Given the description of an element on the screen output the (x, y) to click on. 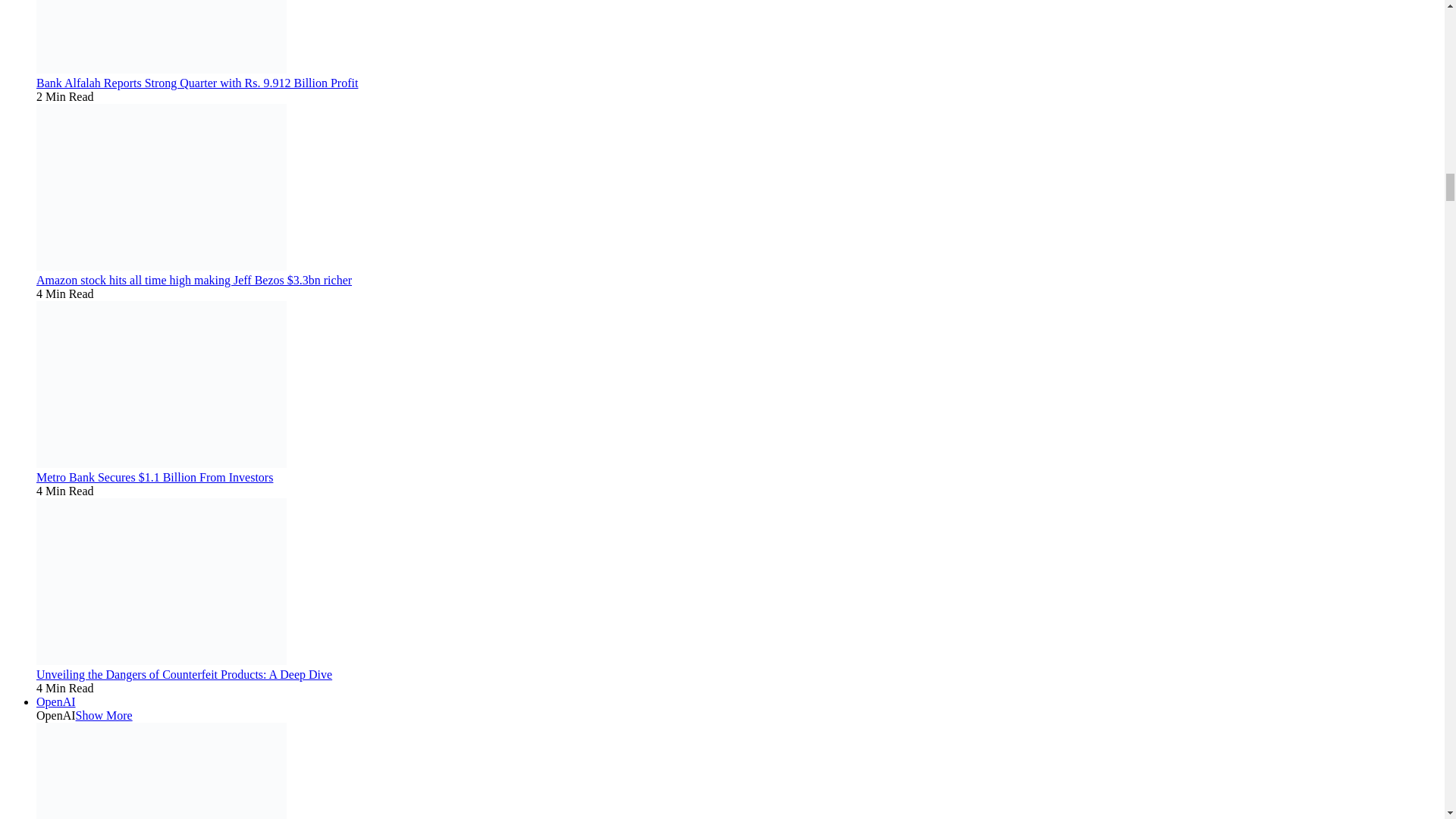
OpenAI (55, 701)
Unveiling the Dangers of Counterfeit Products: A Deep Dive (183, 674)
Show More (103, 715)
